Given the description of an element on the screen output the (x, y) to click on. 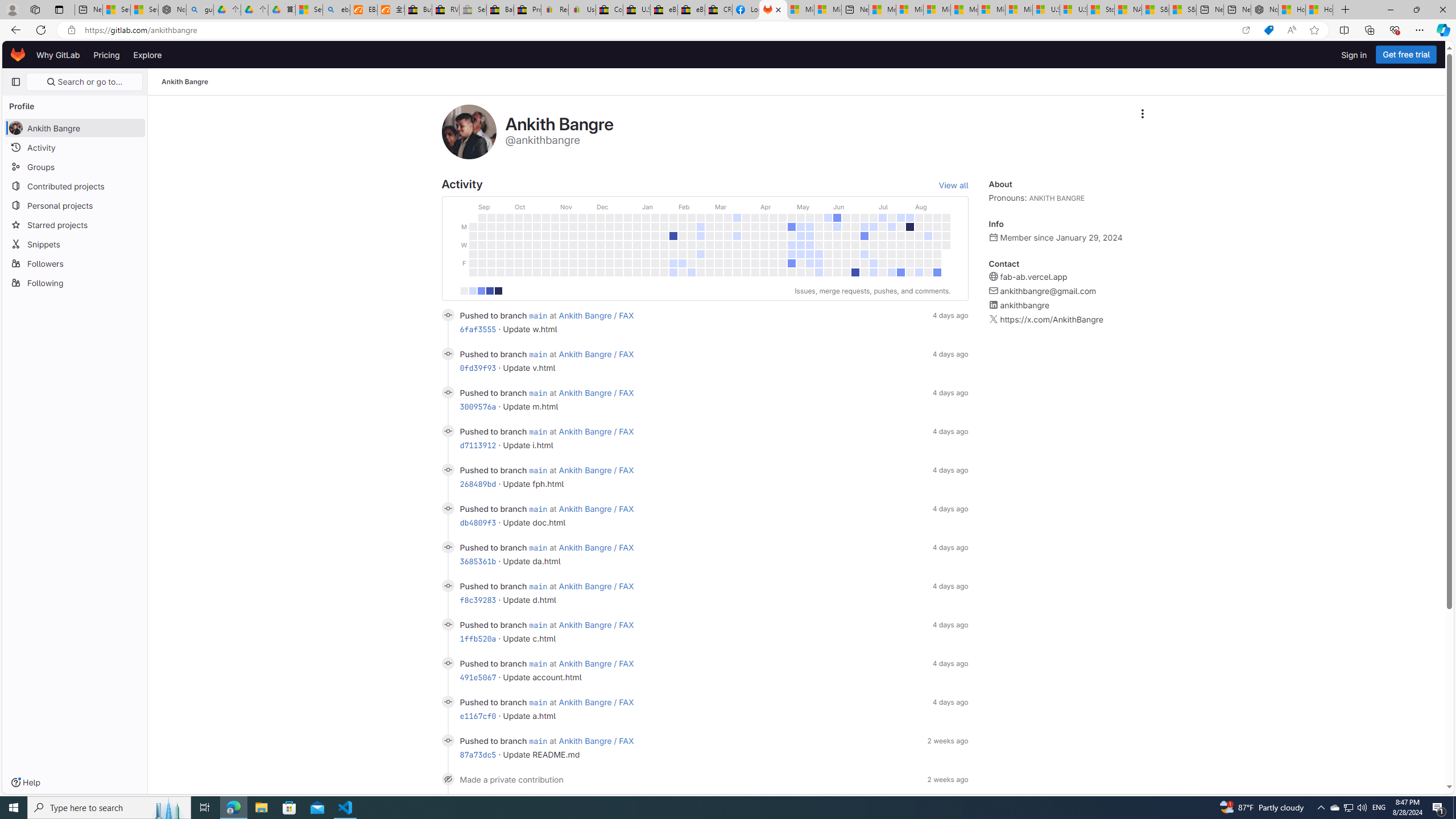
Explore (146, 54)
